Given the description of an element on the screen output the (x, y) to click on. 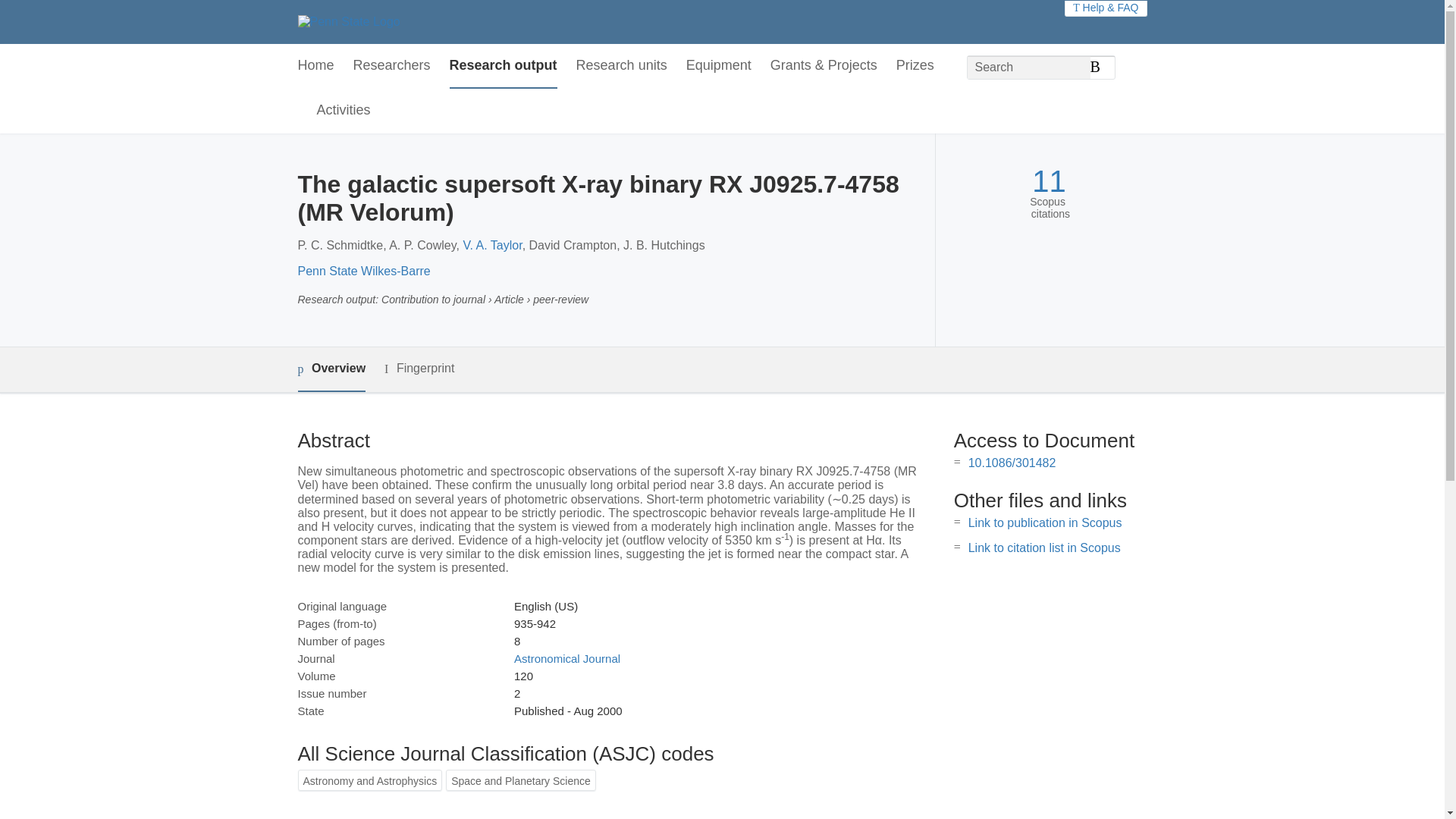
Research output (503, 66)
Research units (621, 66)
Activities (344, 110)
Astronomical Journal (566, 658)
Researchers (391, 66)
Fingerprint (419, 368)
Link to citation list in Scopus (1044, 547)
Overview (331, 369)
Equipment (718, 66)
